Given the description of an element on the screen output the (x, y) to click on. 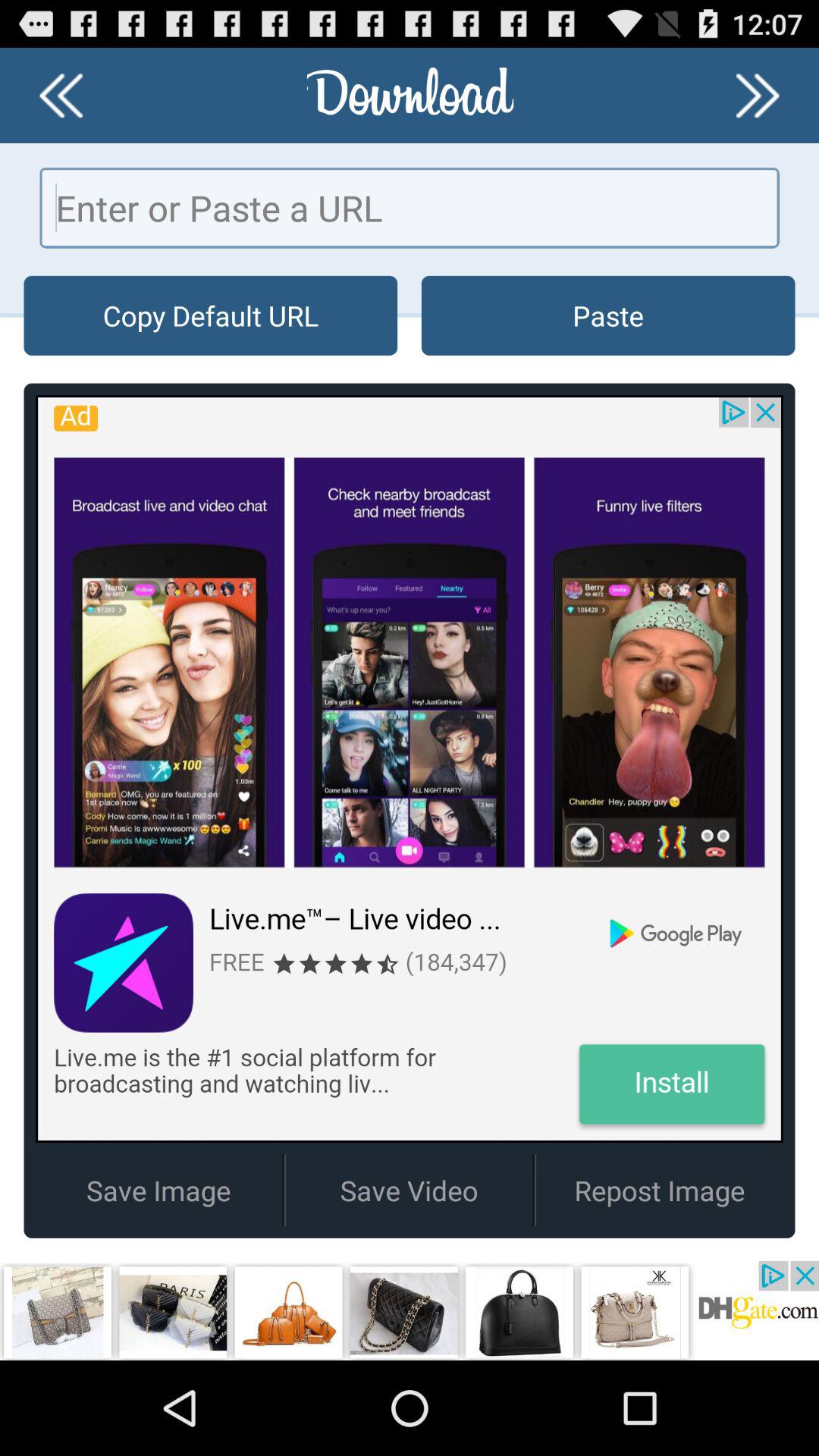
this button in paste a url (409, 207)
